Given the description of an element on the screen output the (x, y) to click on. 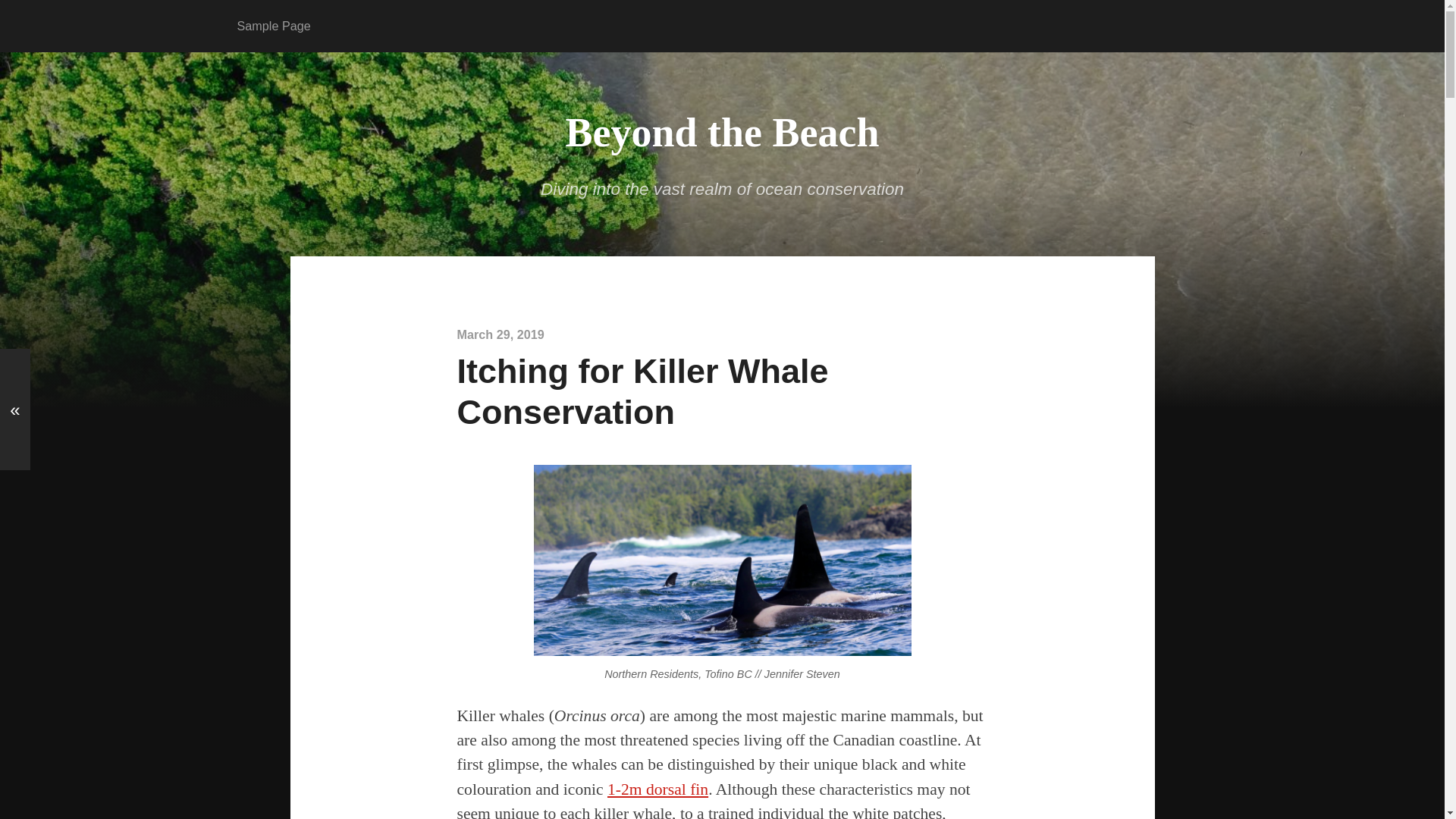
Sample Page (273, 26)
1-2m dorsal fin (657, 789)
Beyond the Beach (721, 132)
